Given the description of an element on the screen output the (x, y) to click on. 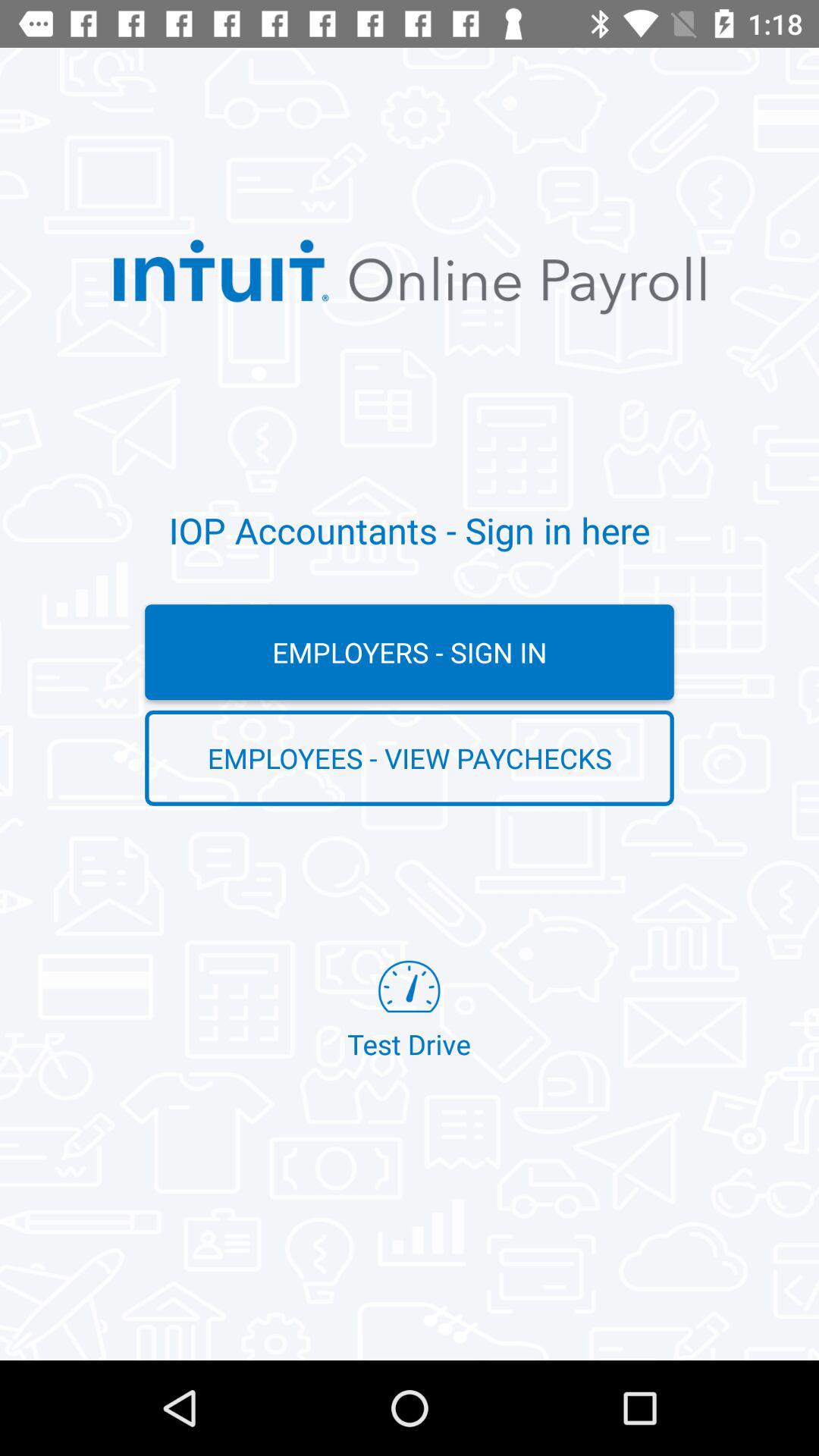
click item below the employees - view paychecks (408, 1011)
